Given the description of an element on the screen output the (x, y) to click on. 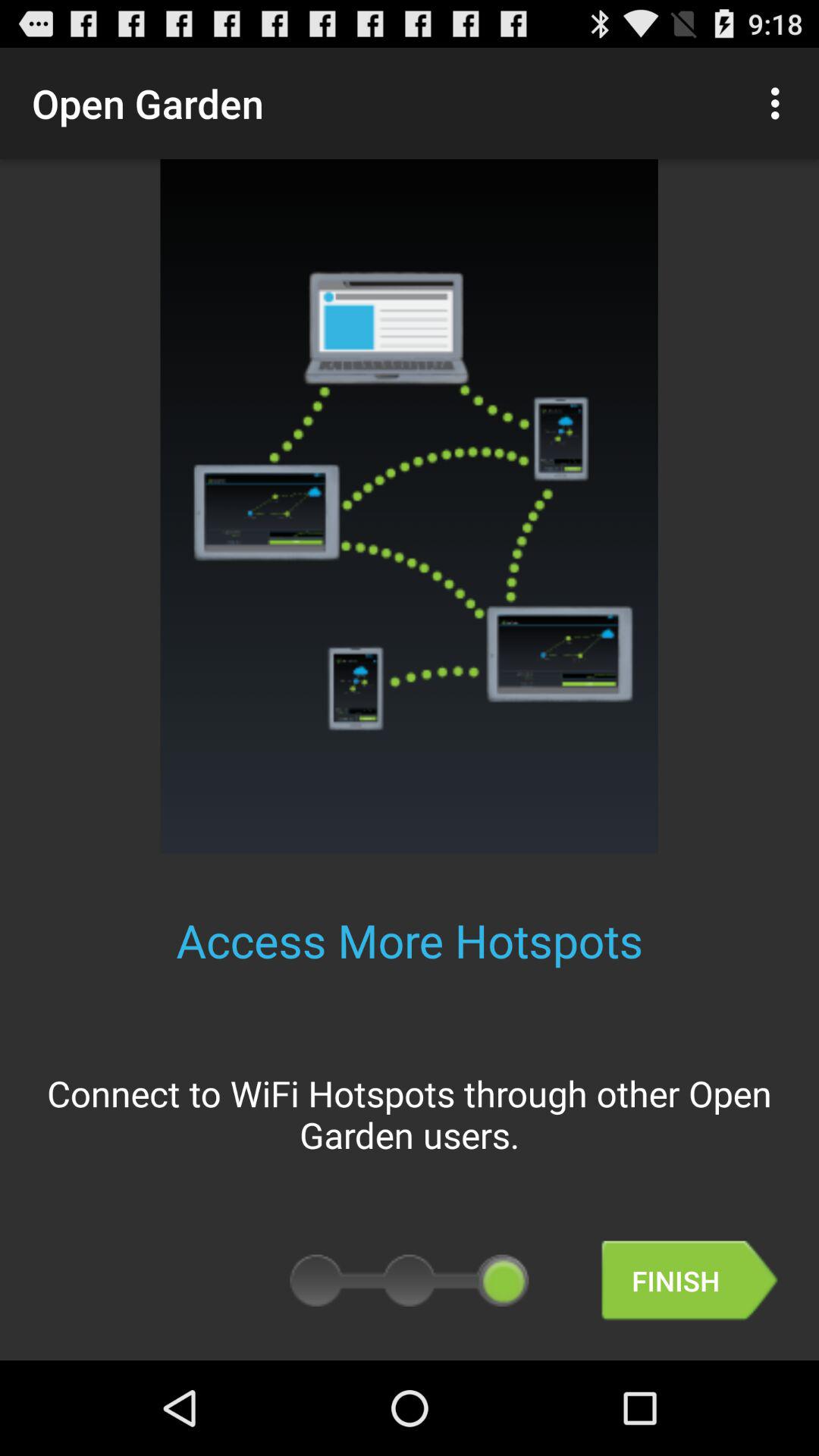
tap the icon at the top right corner (779, 103)
